Given the description of an element on the screen output the (x, y) to click on. 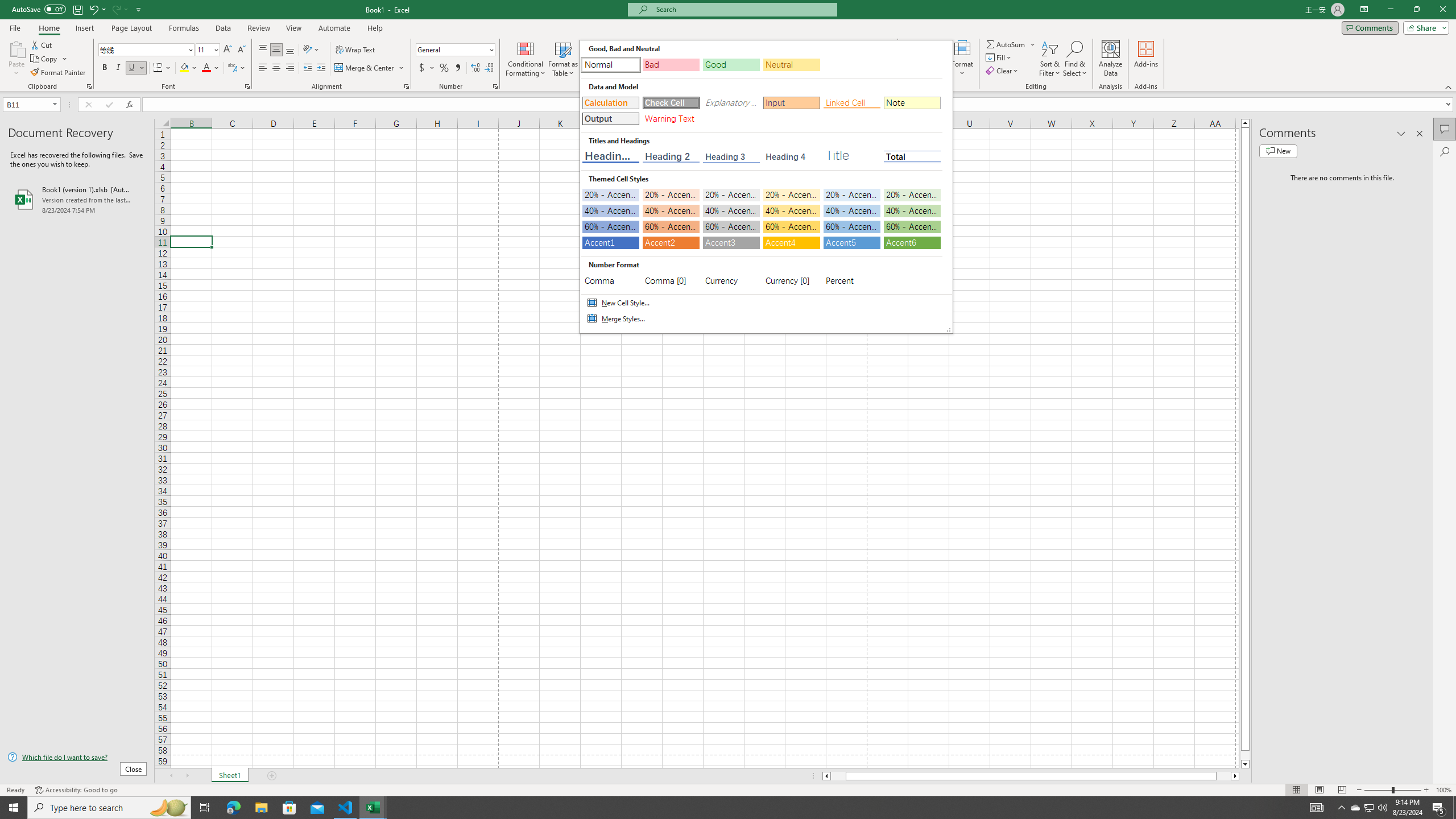
New comment (1368, 807)
Top Align (1278, 151)
AutomationID: 4105 (262, 49)
Underline (1316, 807)
Copy (136, 67)
Font (45, 58)
Running applications (147, 49)
